Given the description of an element on the screen output the (x, y) to click on. 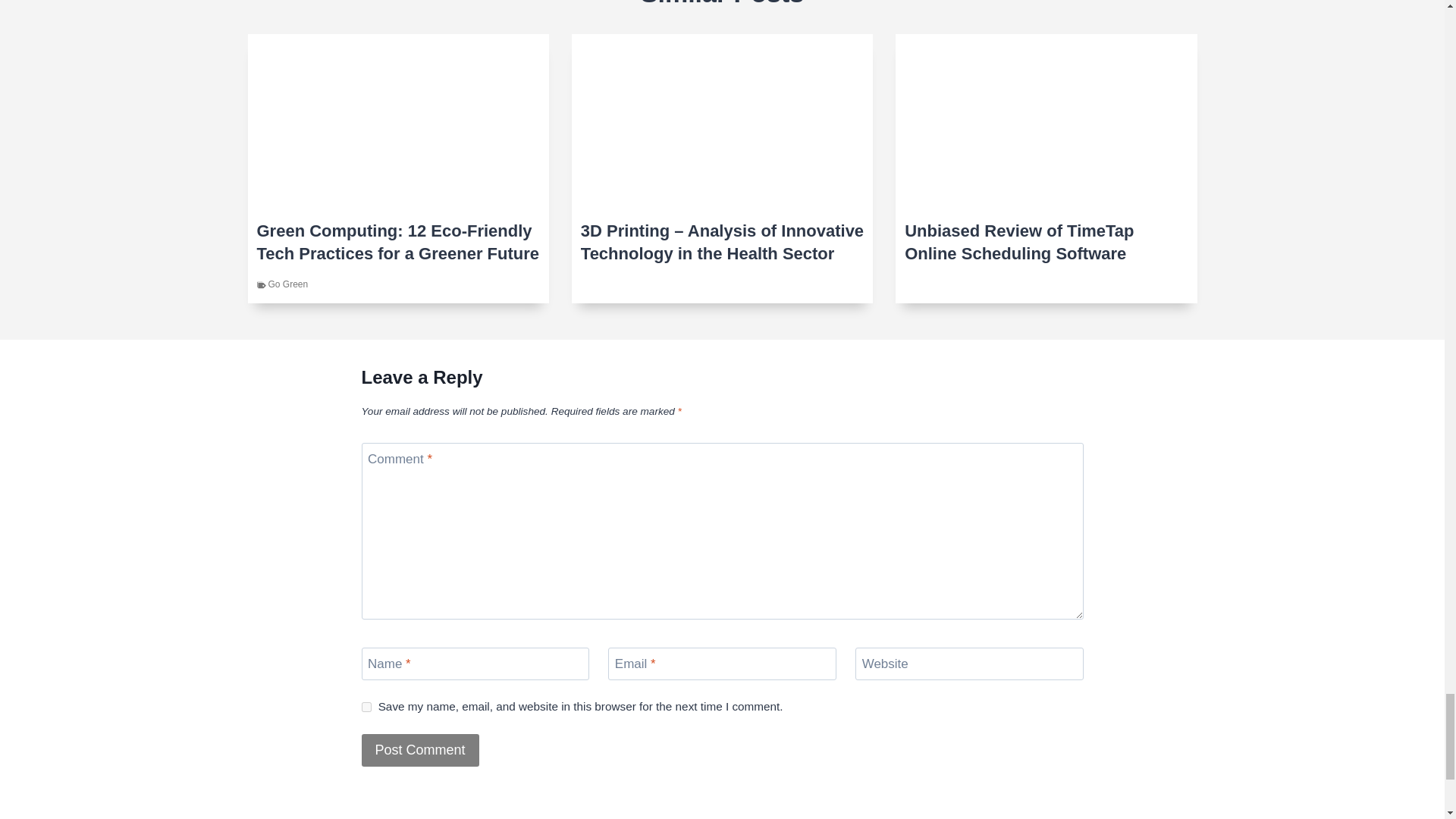
yes (366, 706)
Go Green (287, 284)
Unbiased Review of TimeTap Online Scheduling Software (1046, 242)
Post Comment (420, 749)
Post Comment (420, 749)
